Given the description of an element on the screen output the (x, y) to click on. 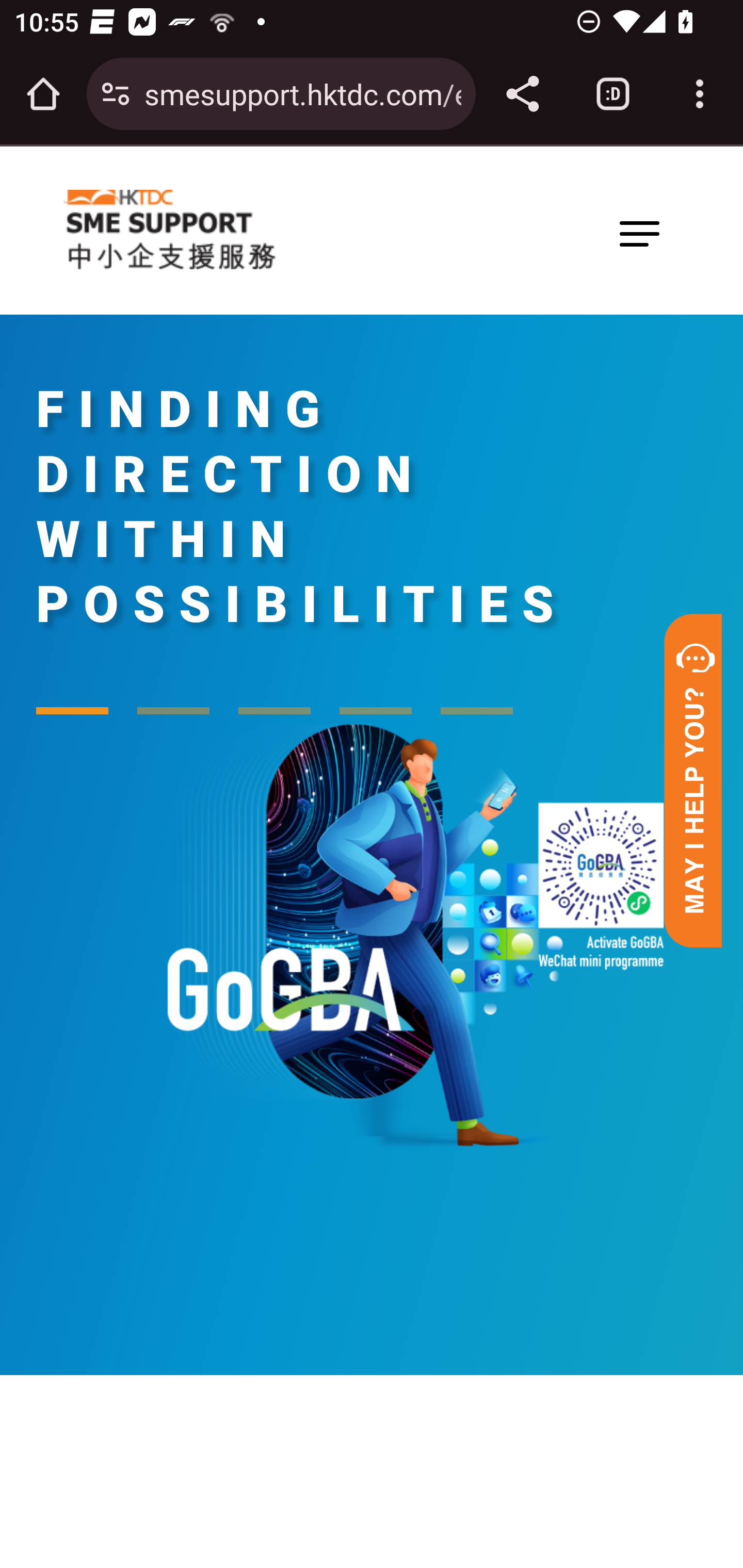
Open the home page (43, 93)
Connection is secure (115, 93)
Share (522, 93)
Switch or close tabs (612, 93)
Customize and control Google Chrome (699, 93)
HKTDC SME Support (169, 229)
Toggle navigation (638, 233)
FINDING DIRECTION WITHIN POSSIBILITIES (302, 507)
